Given the description of an element on the screen output the (x, y) to click on. 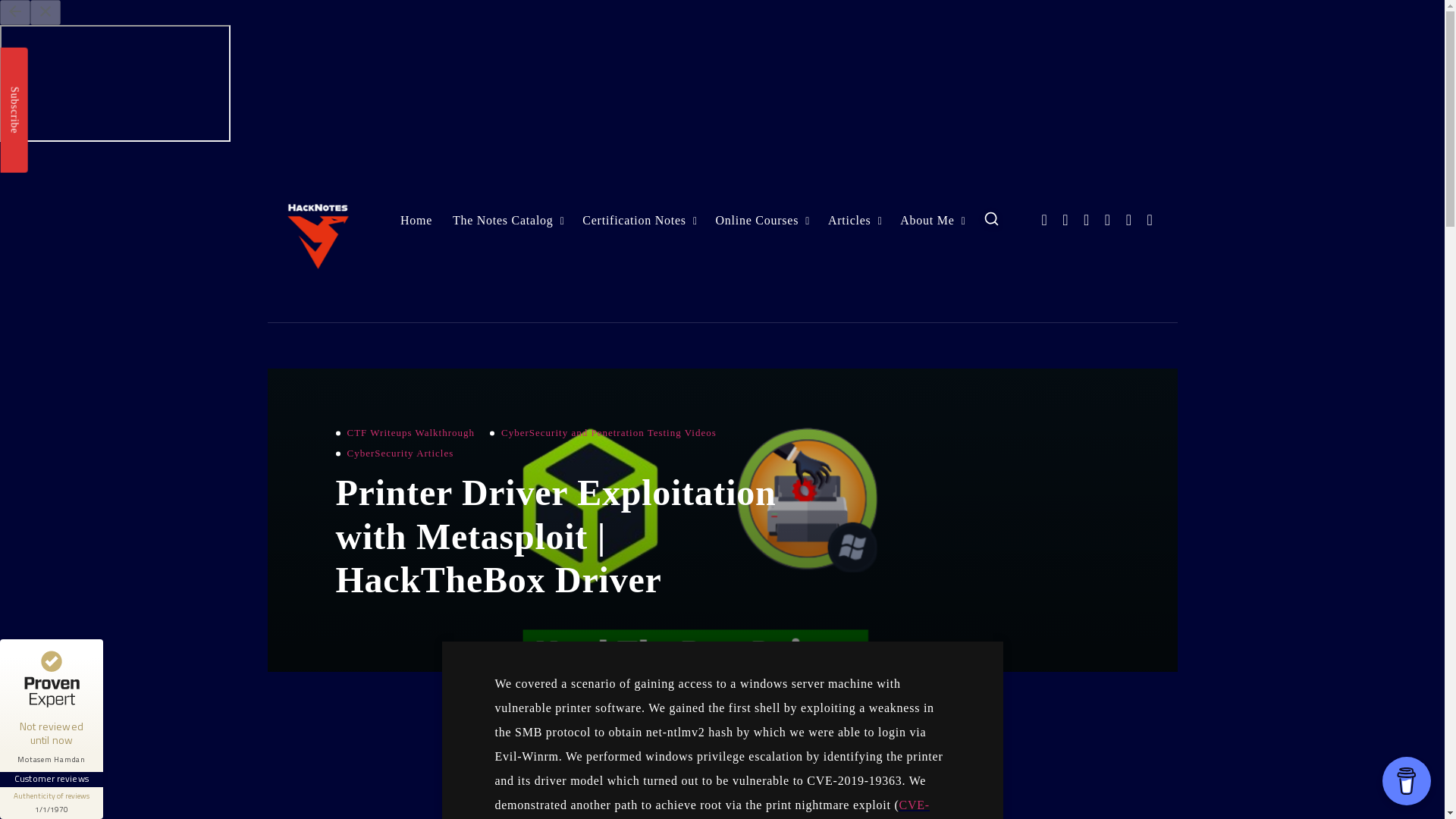
Get more information now (113, 791)
Authenticity of reviews (51, 803)
Close back side (13, 645)
